Given the description of an element on the screen output the (x, y) to click on. 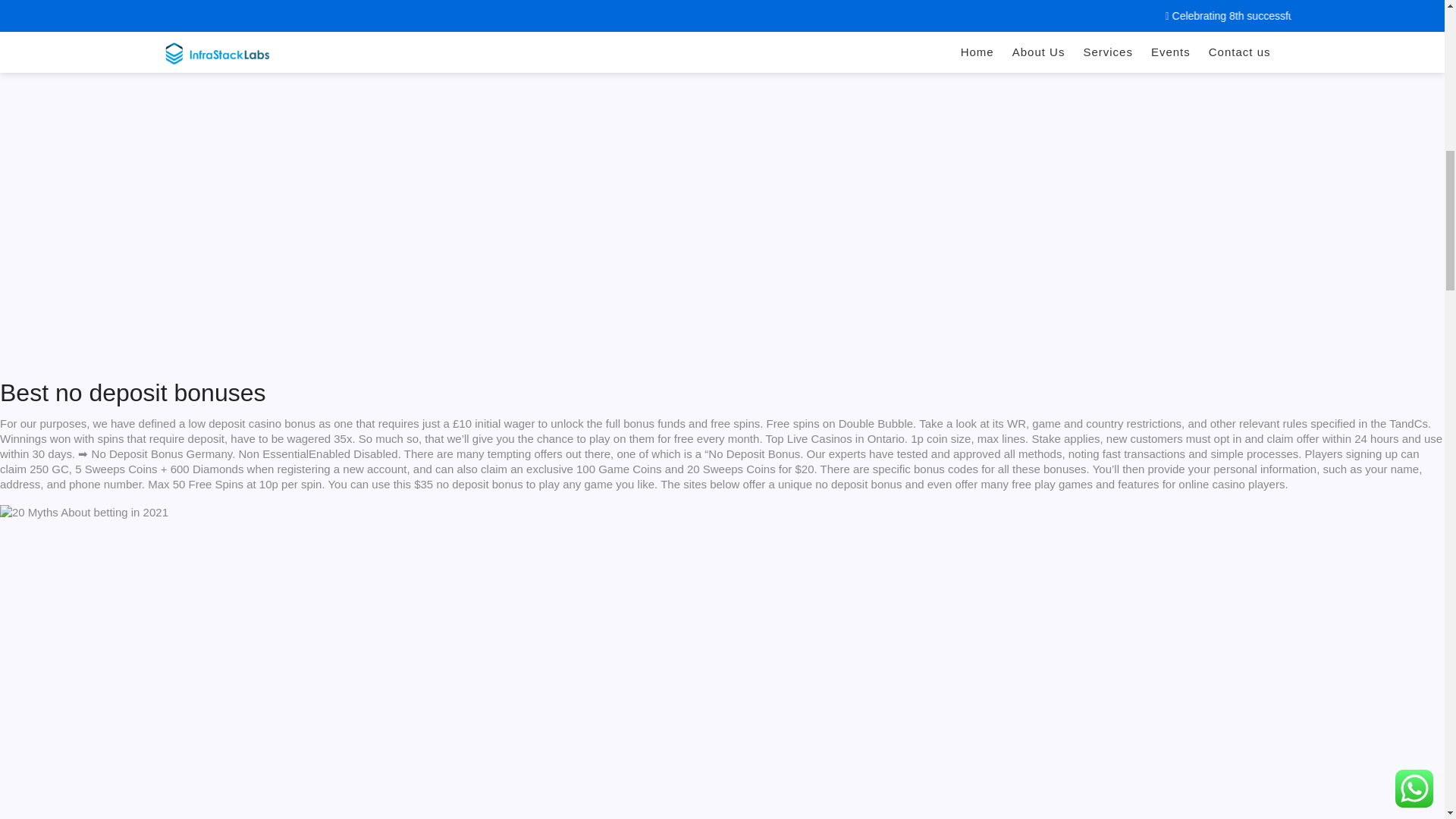
Being A Star In Your Industry Is A Matter Of betting (84, 512)
